Given the description of an element on the screen output the (x, y) to click on. 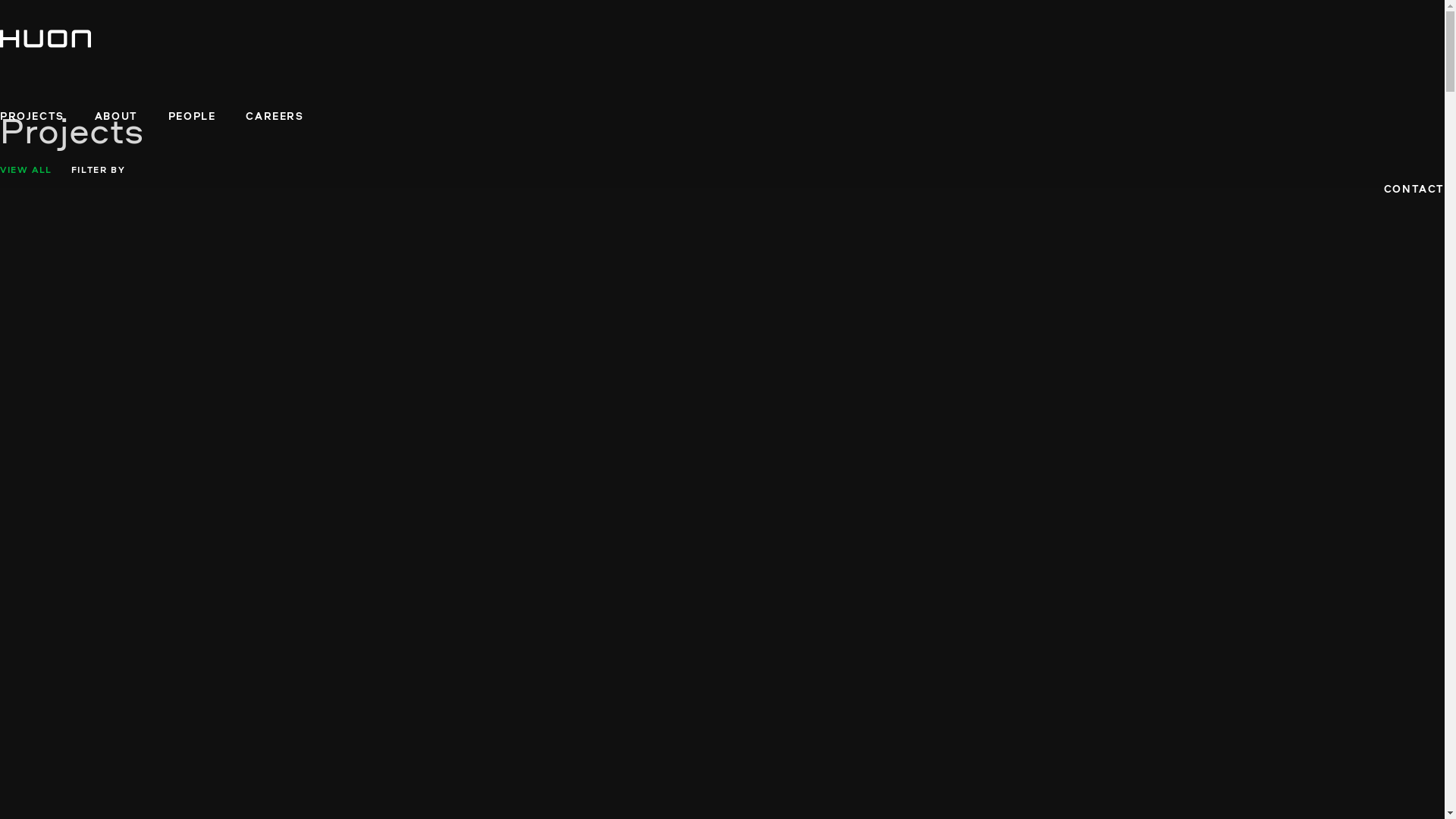
ABOUT Element type: text (116, 116)
VIEW ALL Element type: text (26, 170)
HUON Element type: text (45, 38)
CAREERS Element type: text (274, 116)
PEOPLE Element type: text (192, 116)
PROJECTS Element type: text (32, 116)
CONTACT Element type: text (1413, 189)
